Given the description of an element on the screen output the (x, y) to click on. 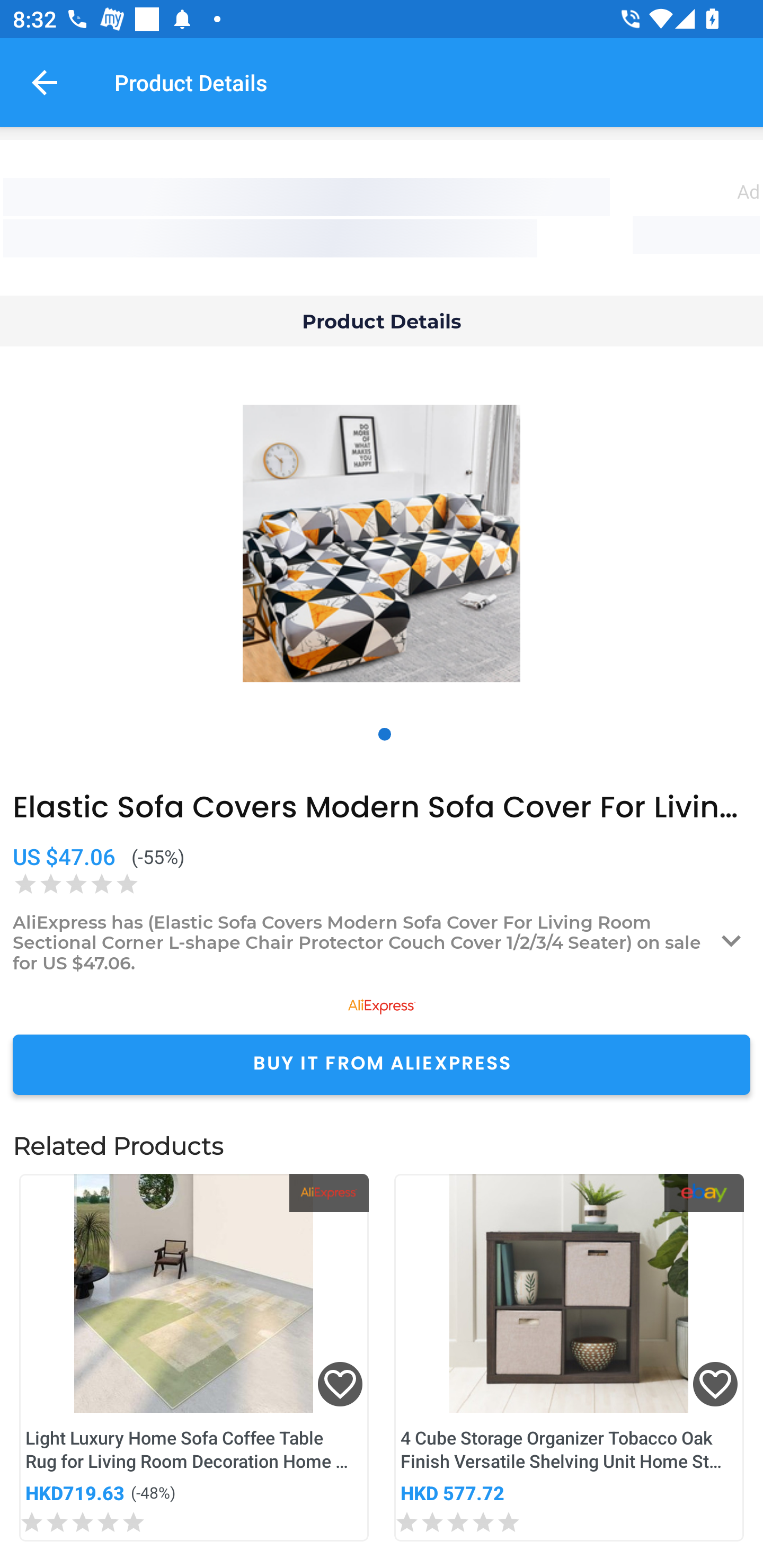
Navigate up (44, 82)
BUY IT FROM ALIEXPRESS (381, 1064)
